Given the description of an element on the screen output the (x, y) to click on. 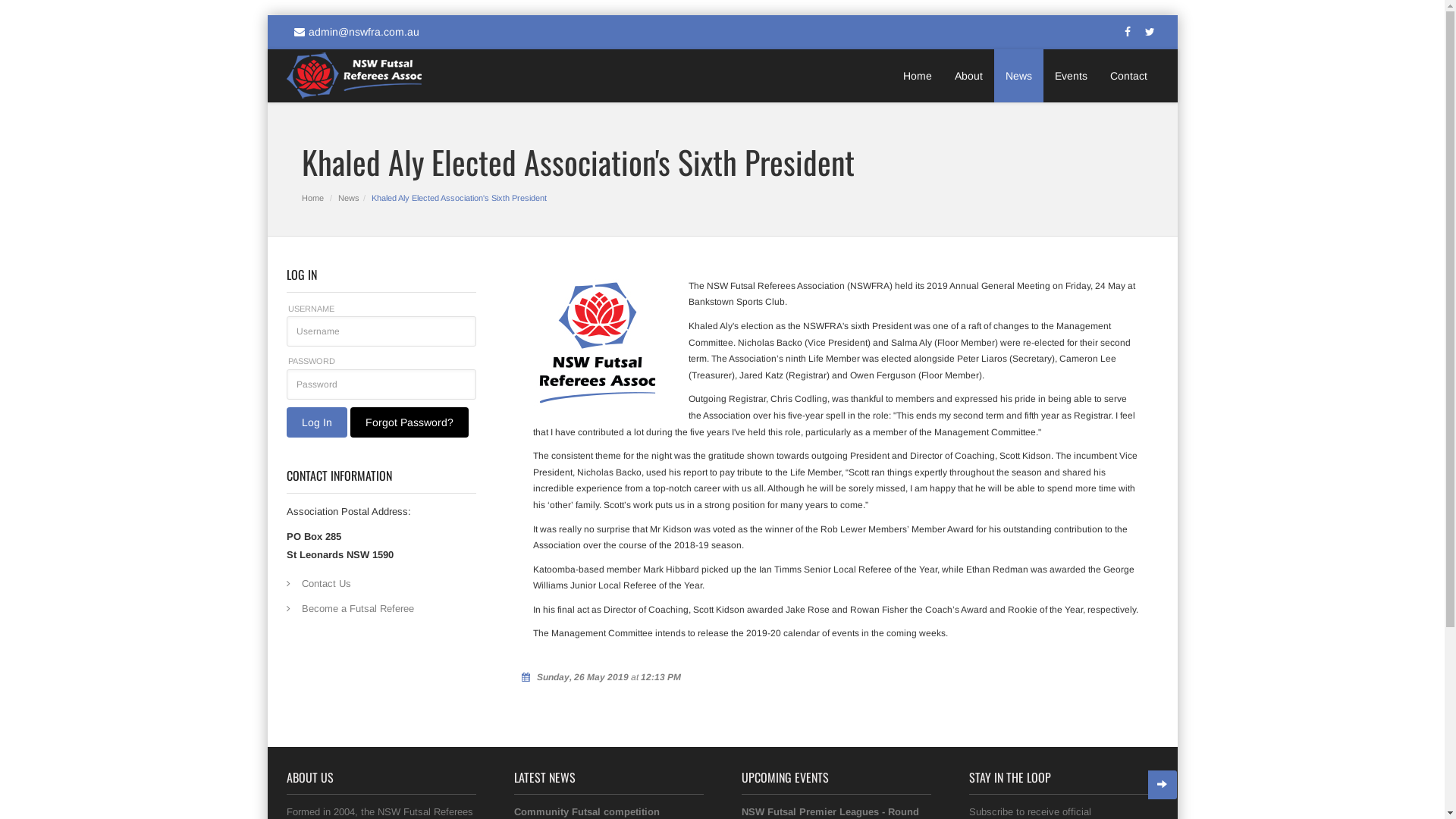
Events Element type: text (1070, 75)
Home Element type: text (917, 75)
Home Element type: text (312, 197)
Contact Element type: text (1122, 75)
Forgot Password? Element type: text (409, 422)
Contact Us Element type: text (381, 583)
About Element type: text (968, 75)
News Element type: text (1017, 75)
Log In Element type: text (316, 422)
Become a Futsal Referee Element type: text (381, 608)
admin@nswfra.com.au Element type: text (352, 31)
News Element type: text (348, 197)
